Given the description of an element on the screen output the (x, y) to click on. 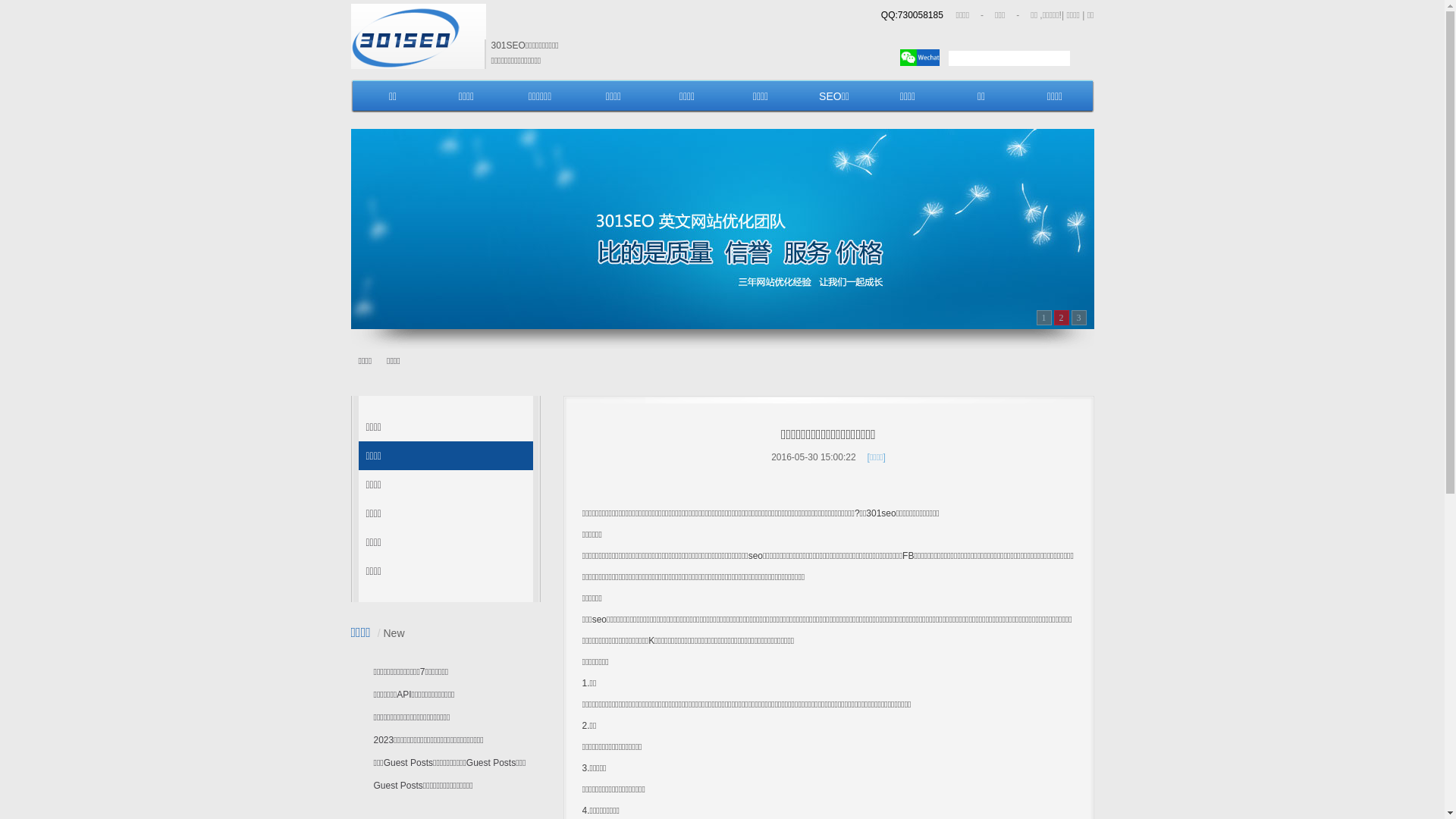
QQ:730058185 Element type: text (912, 14)
